Given the description of an element on the screen output the (x, y) to click on. 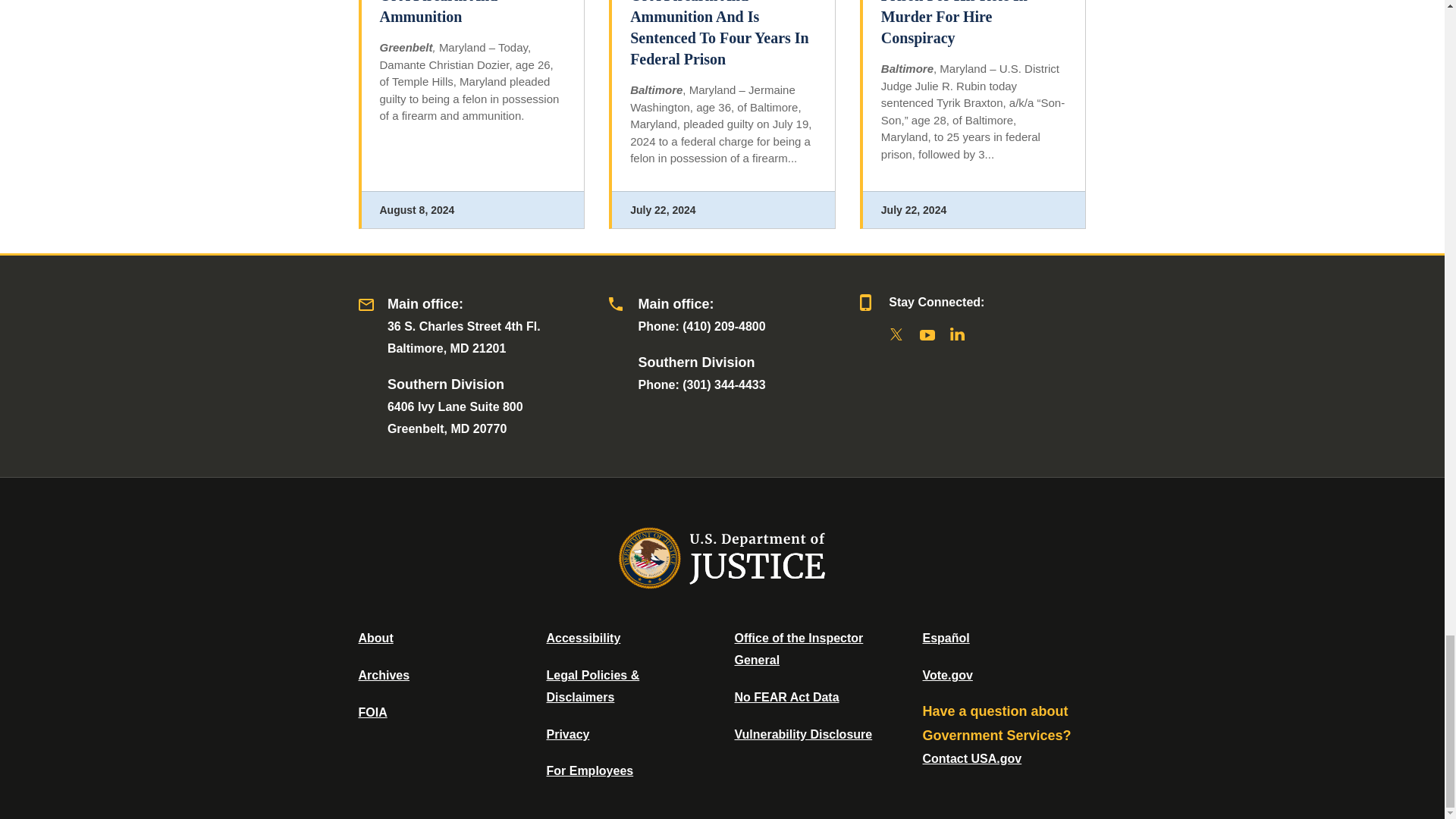
Department of Justice Archive (383, 675)
Accessibility Statement (583, 637)
Legal Policies and Disclaimers (592, 686)
About DOJ (375, 637)
For Employees (589, 770)
Office of Information Policy (372, 712)
Data Posted Pursuant To The No Fear Act (785, 697)
